Given the description of an element on the screen output the (x, y) to click on. 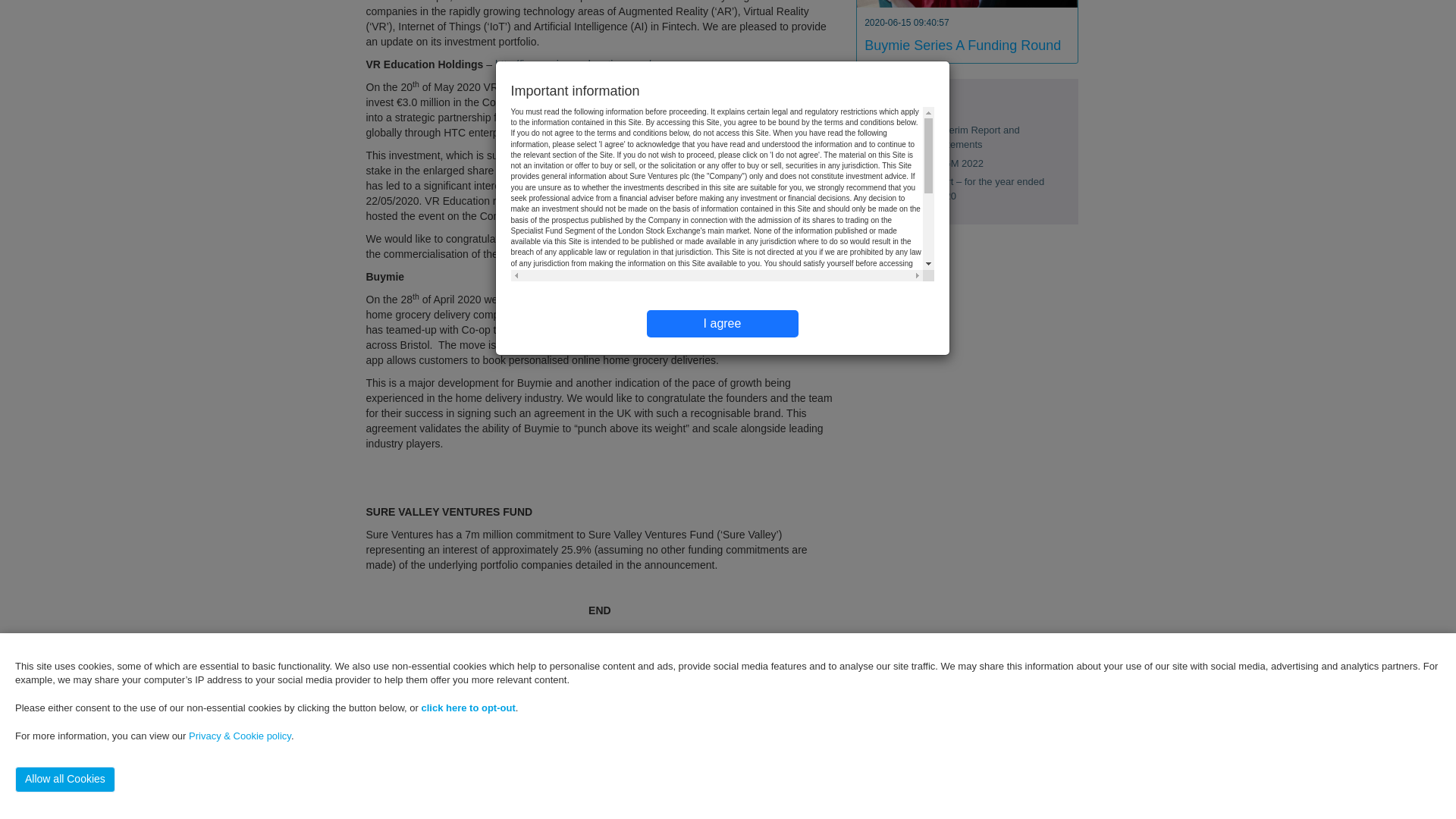
Unaudited Interim Report and Financial Statements (954, 136)
Results of AGM 2022 (936, 163)
Allow all Cookies (64, 177)
Submit (721, 773)
Unaudited Interim Report and Financial Statements (954, 136)
Buymie Series A Funding Round (962, 44)
click here to opt-out (468, 106)
Results of AGM 2022 (936, 163)
